Given the description of an element on the screen output the (x, y) to click on. 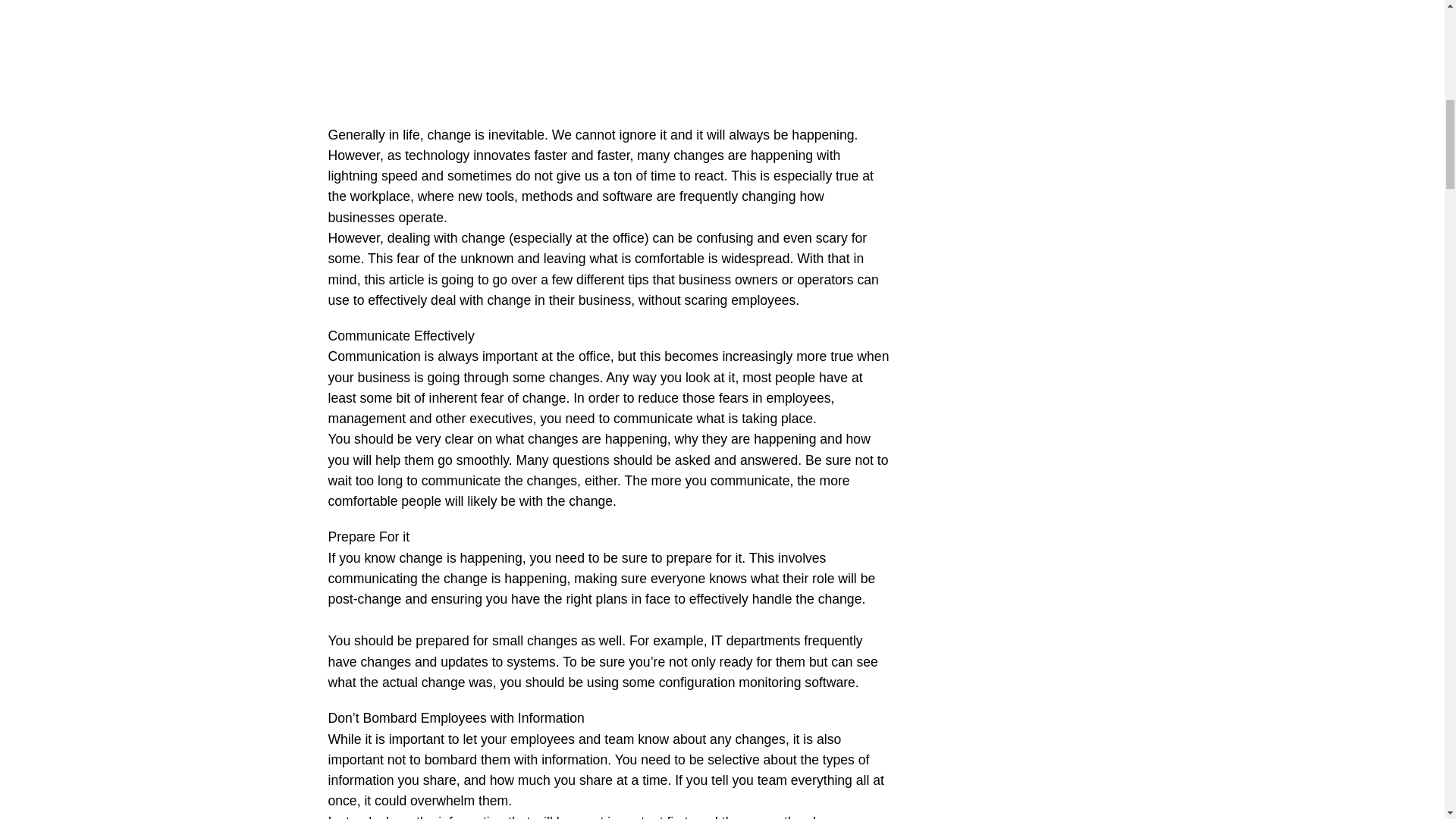
Advertisement (608, 56)
